Given the description of an element on the screen output the (x, y) to click on. 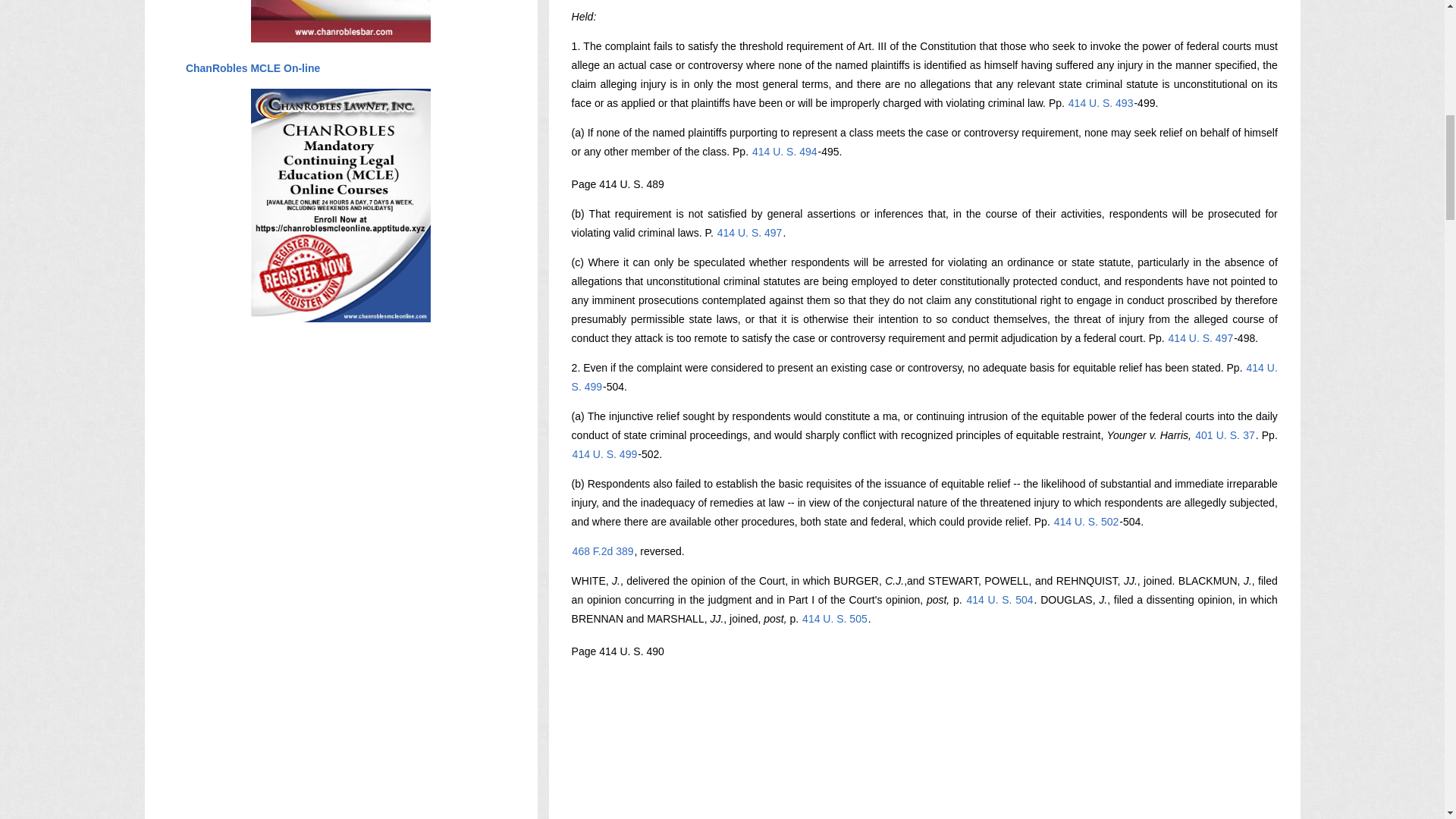
414 U. S. 502 (1085, 521)
468 F.2d 389 (603, 551)
Page 414 U. S. 490 (617, 651)
414 U. S. 497 (749, 232)
ChanRobles MCLE On-line (252, 68)
Page 414 U. S. 489 (617, 184)
414 U. S. 493 (1100, 102)
414 U. S. 494 (784, 151)
414 U. S. 504 (999, 599)
414 U. S. 505 (834, 618)
